Given the description of an element on the screen output the (x, y) to click on. 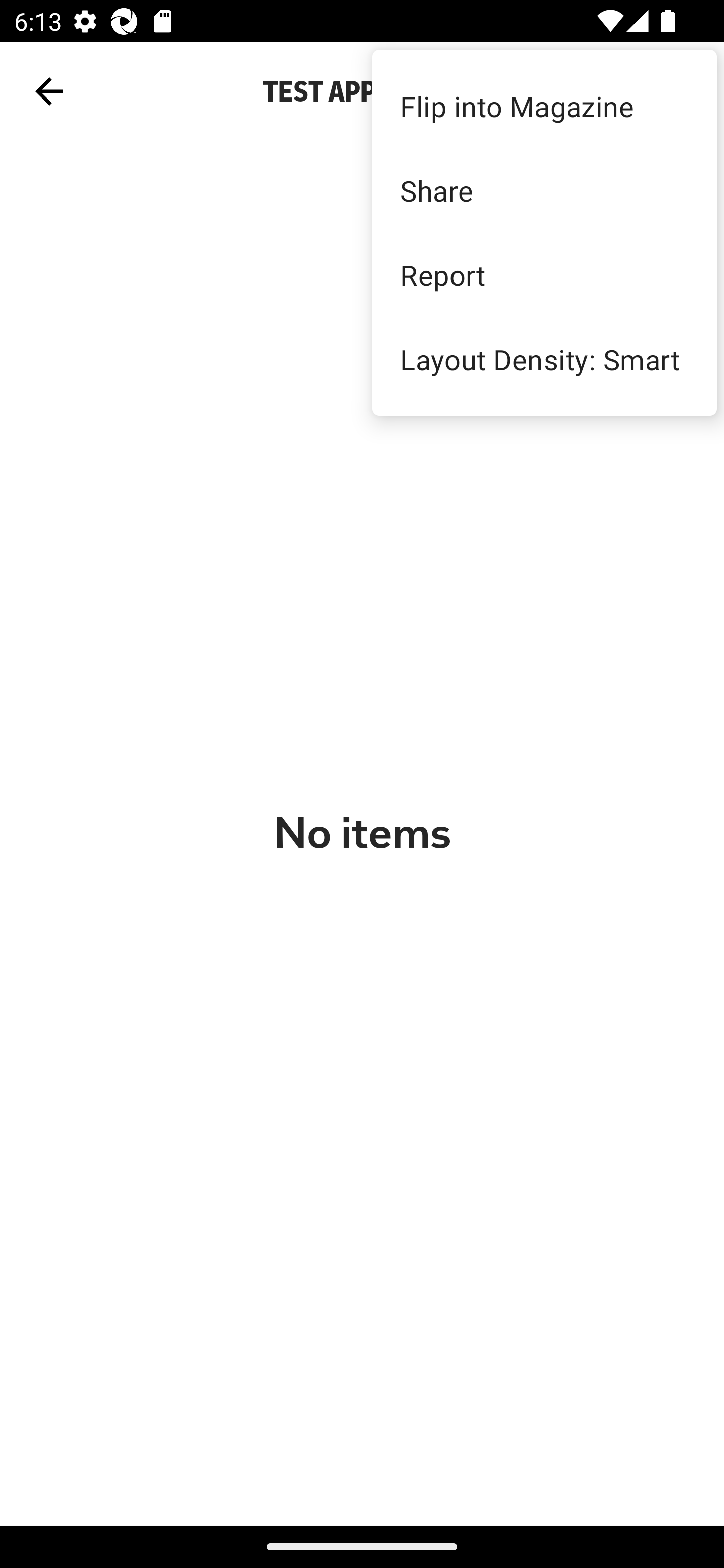
Flip into Magazine (544, 106)
Share (544, 190)
Report (544, 274)
Layout Density: Smart (544, 358)
